Given the description of an element on the screen output the (x, y) to click on. 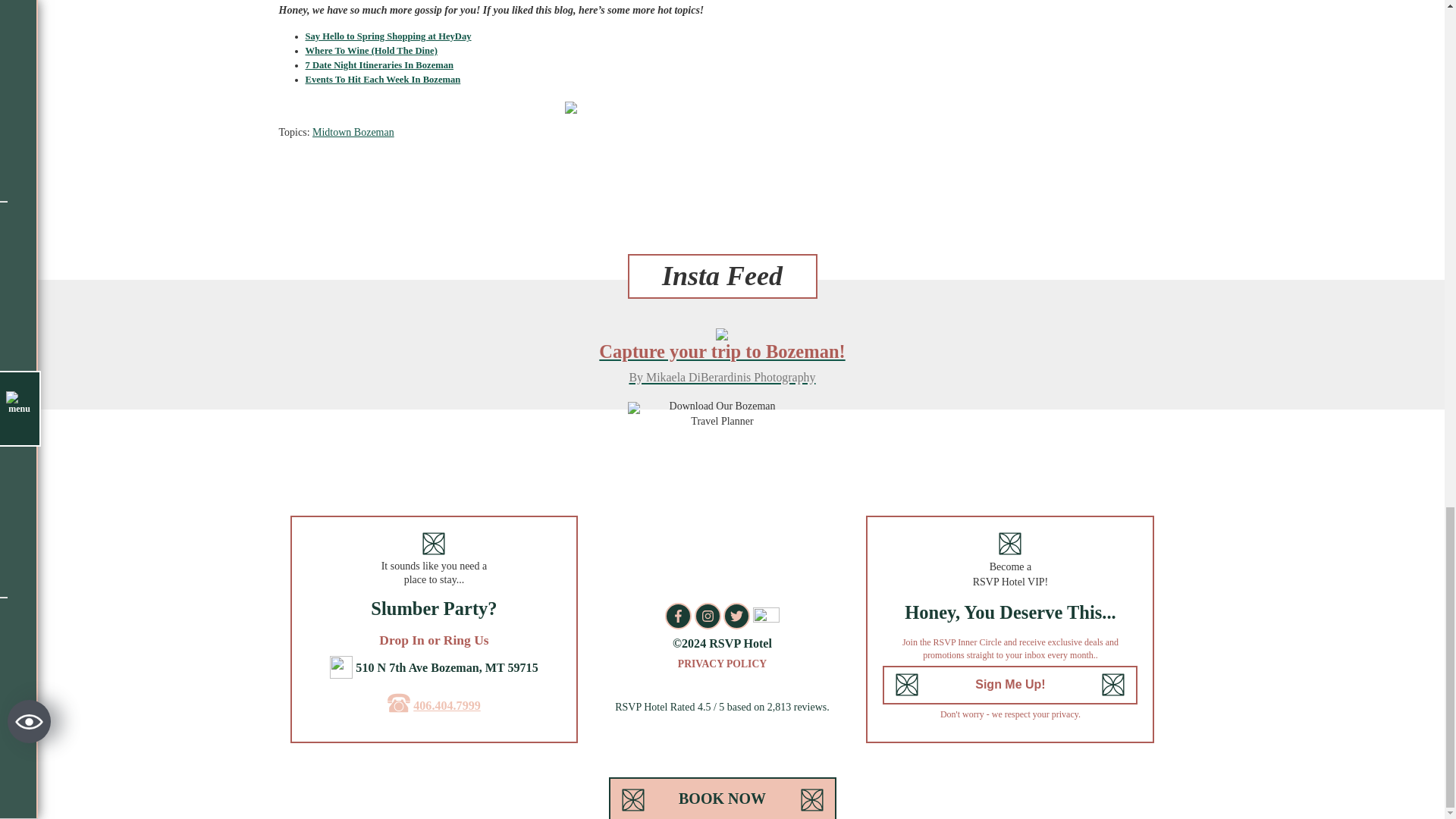
7 Date Night Itineraries In Bozeman (378, 64)
Say Hello to Spring Shopping at HeyDay (387, 36)
Events To Hit Each Week In Bozeman (382, 79)
Midtown Bozeman (353, 132)
